Given the description of an element on the screen output the (x, y) to click on. 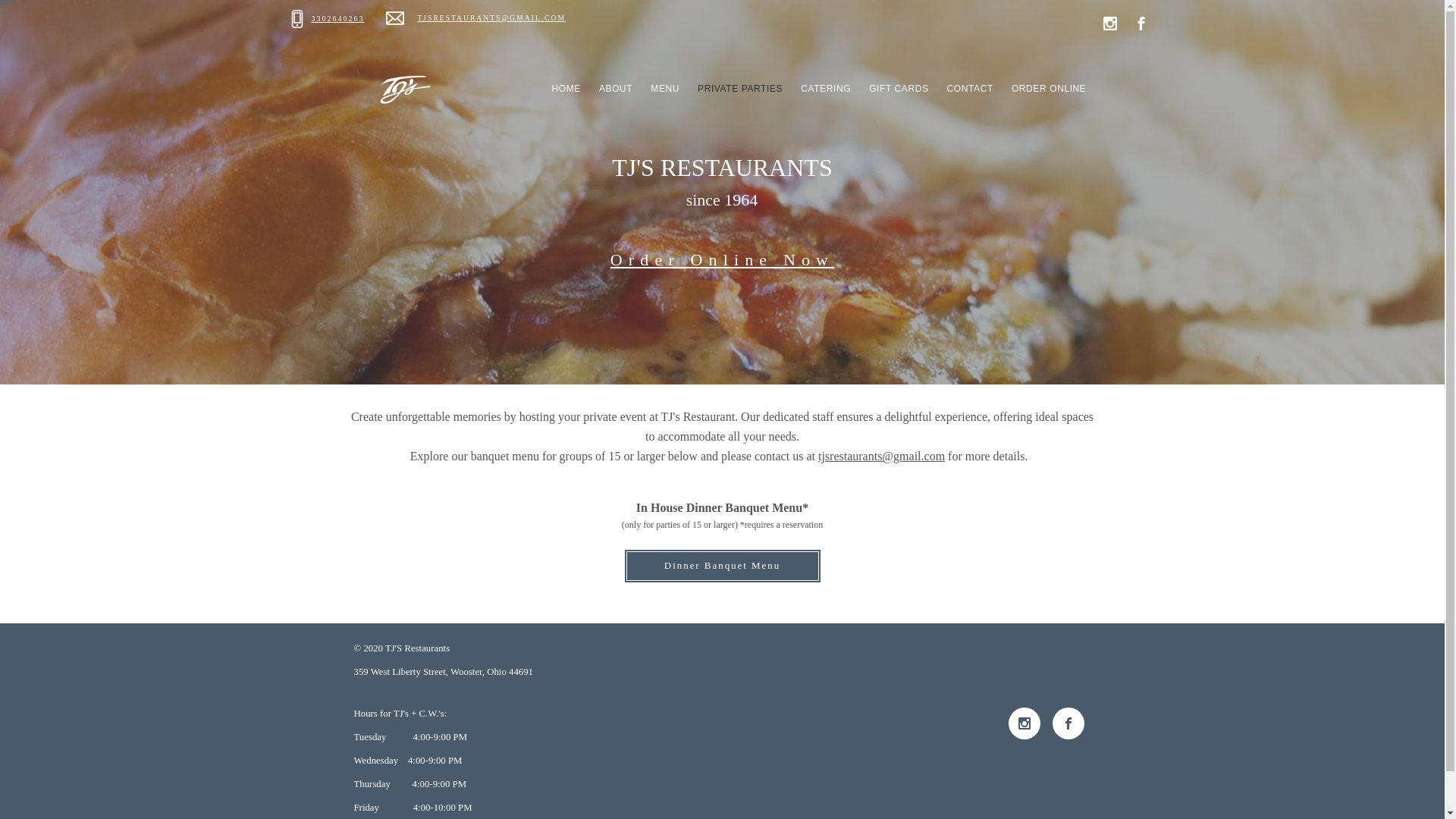
CATERING (826, 88)
Dinner Banquet Menu (722, 565)
CONTACT (970, 88)
PRIVATE PARTIES (740, 88)
3302646263 (337, 18)
GIFT CARDS (898, 88)
ABOUT (615, 88)
MENU (665, 88)
Click Here To View The Menu (716, 301)
ORDER ONLINE (1049, 88)
HOME (566, 88)
Order Online Now (722, 259)
